Given the description of an element on the screen output the (x, y) to click on. 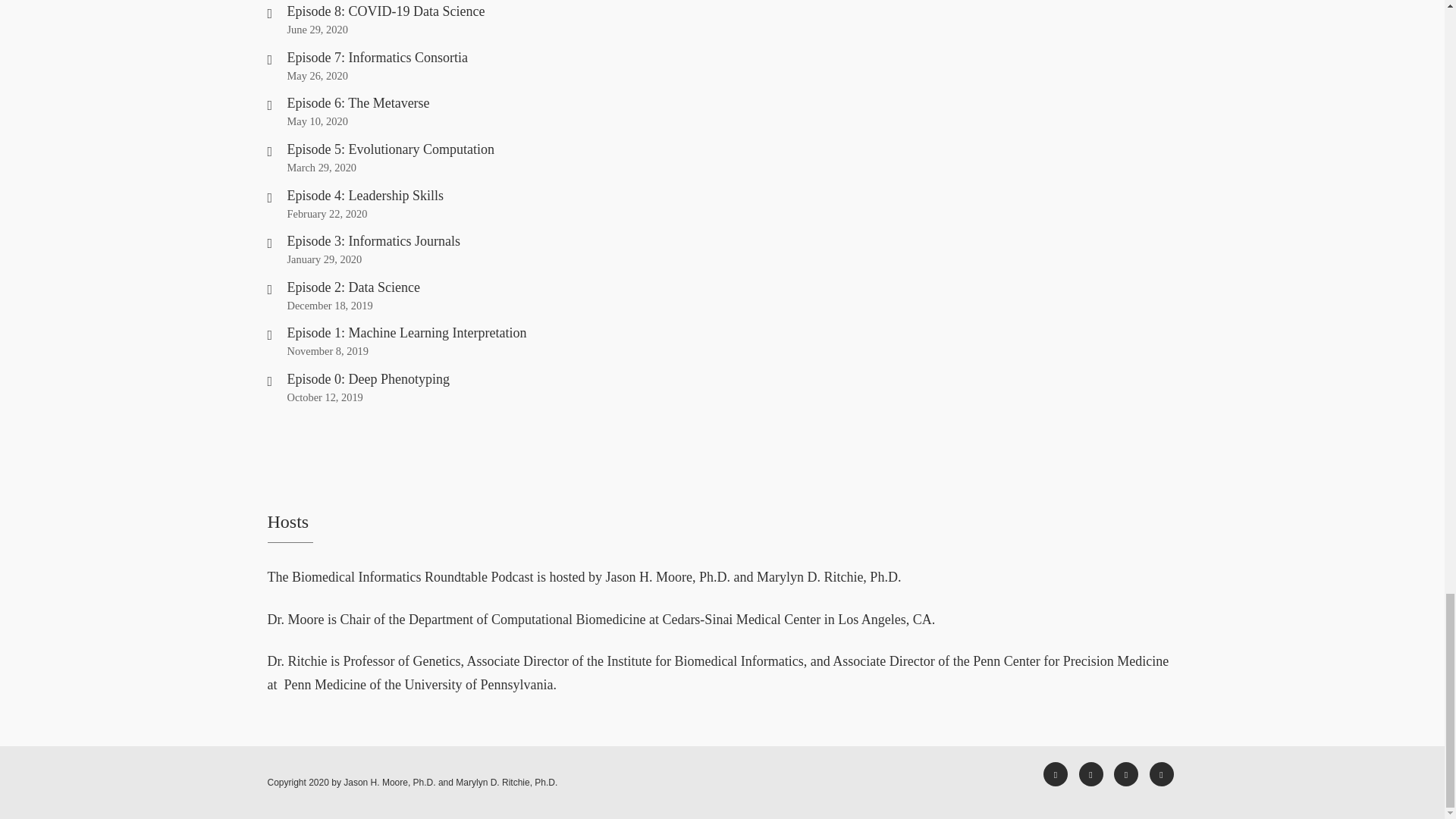
Episode 6: The Metaverse (357, 102)
Email (1161, 774)
Facebook (1055, 774)
Twitter (1090, 774)
Episode 8: COVID-19 Data Science (385, 11)
Soundcloud (1125, 774)
Episode 4: Leadership Skills (364, 195)
Episode 5: Evolutionary Computation (389, 149)
Episode 7: Informatics Consortia (376, 57)
